Given the description of an element on the screen output the (x, y) to click on. 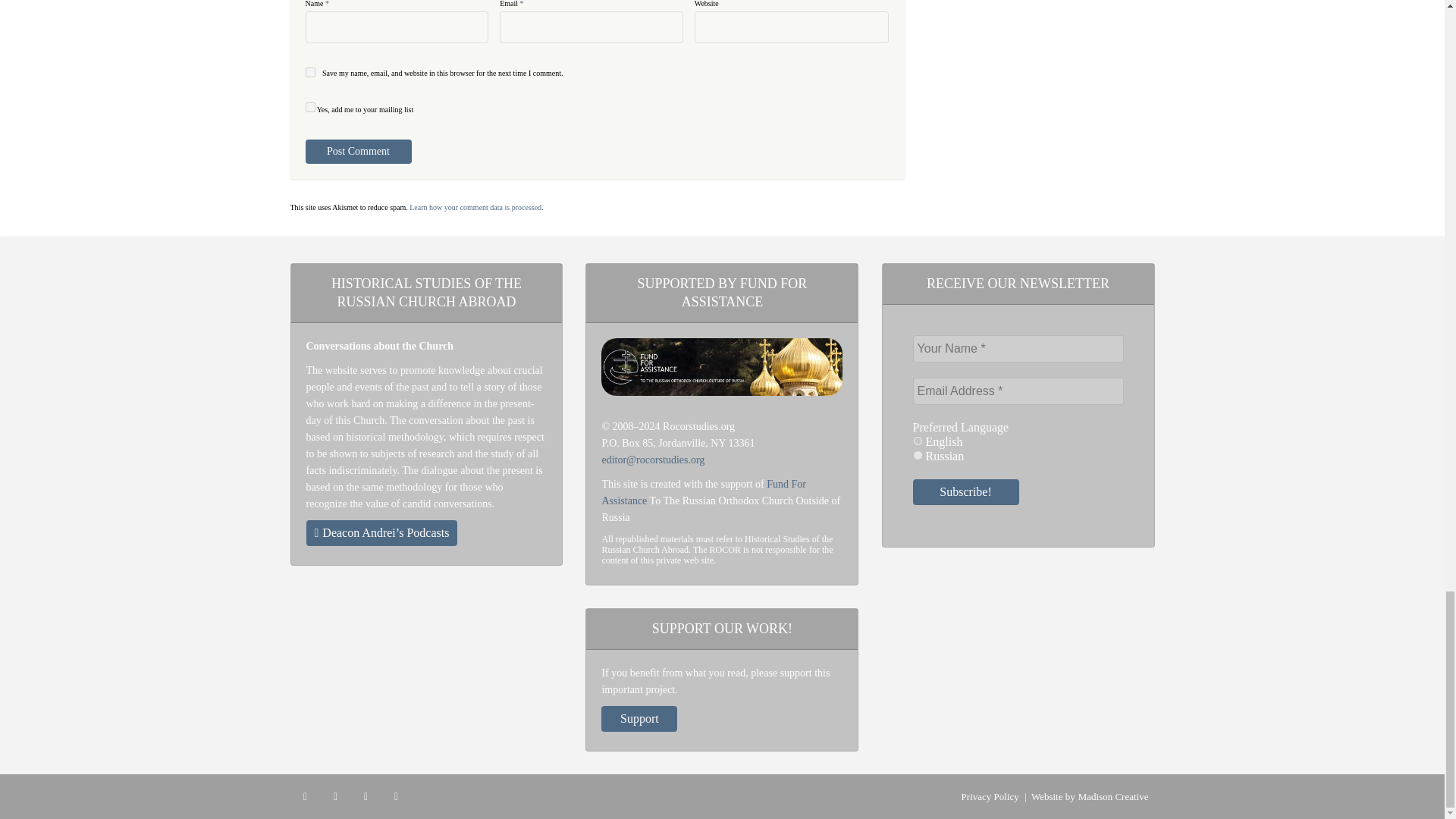
English (917, 440)
yes (309, 71)
Post Comment (357, 151)
Russian (917, 455)
Subscribe! (965, 492)
1 (309, 107)
